Given the description of an element on the screen output the (x, y) to click on. 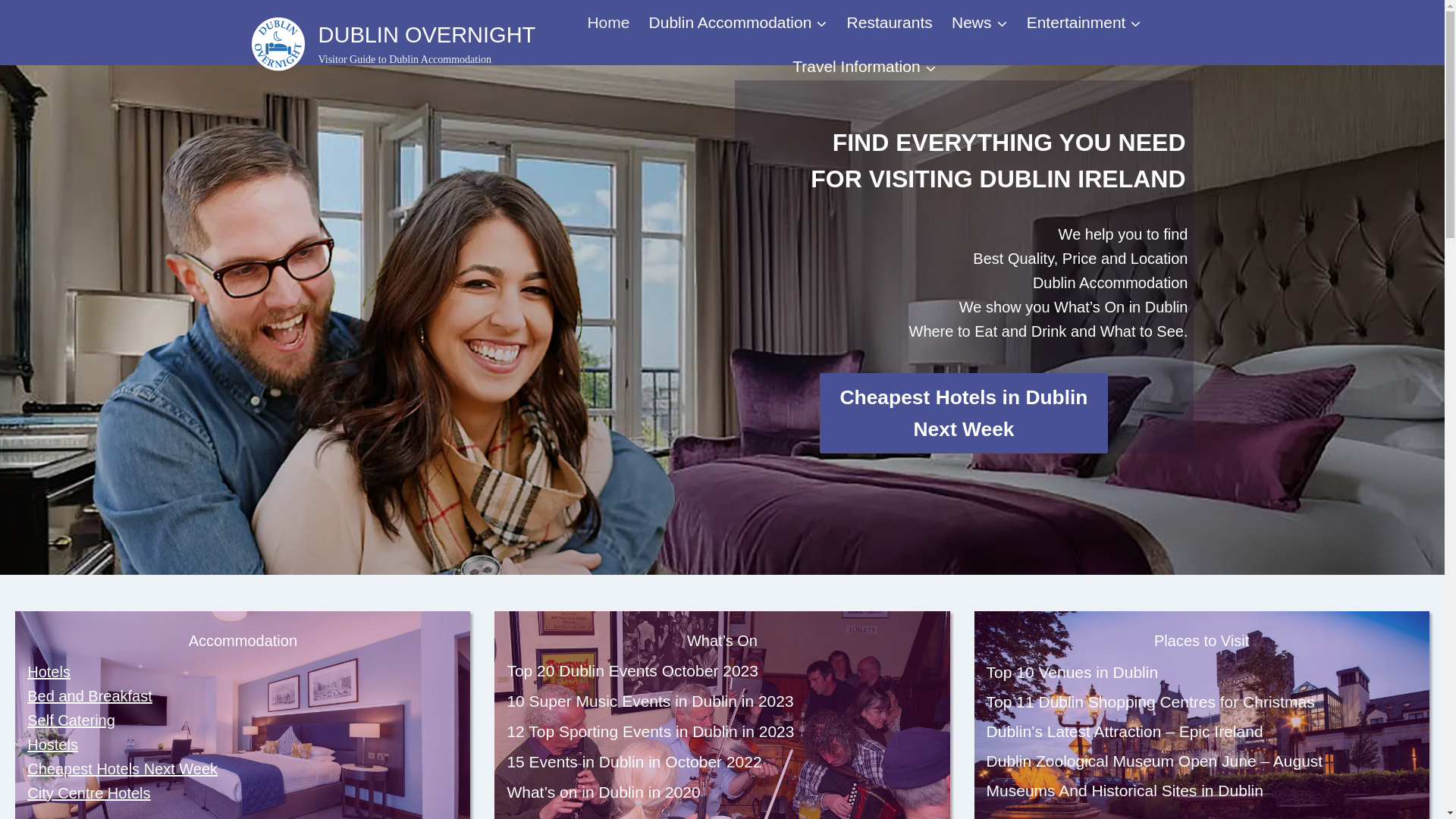
Bed and Breakfast (89, 695)
Hostels (52, 744)
News (979, 22)
Travel Information (864, 67)
Cheapest Hotels Next Week (121, 768)
15 Events in Dublin in October 2022 (393, 44)
12 Top Sporting Events in Dublin in 2023 (721, 762)
Self Catering (721, 731)
Restaurants (71, 719)
Top 10 Venues in Dublin (889, 22)
Home (1201, 672)
Top 20 Dublin Events October 2023 (608, 22)
Hotels (721, 671)
Dublin Accommodation (48, 671)
